Given the description of an element on the screen output the (x, y) to click on. 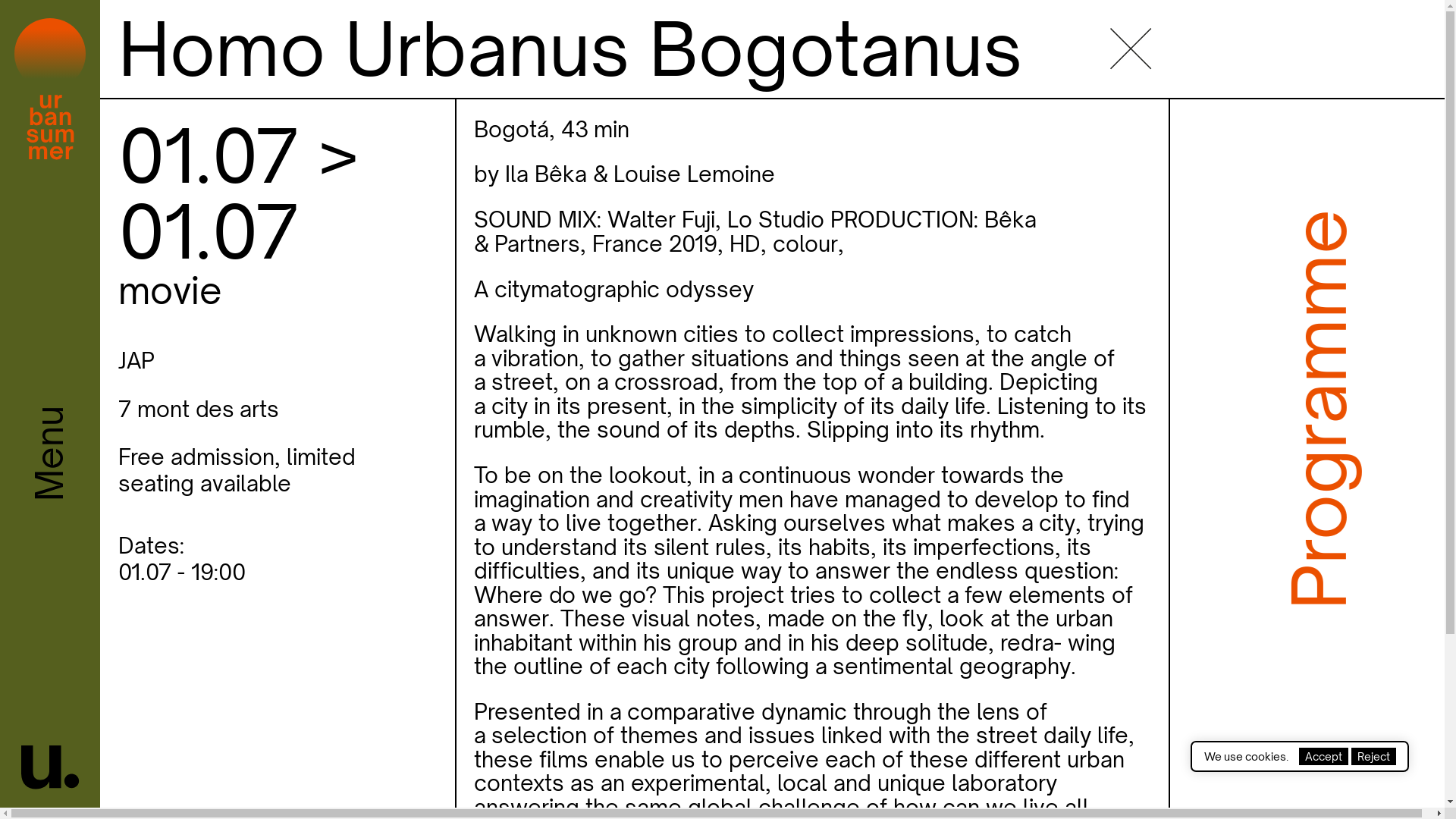
Accept Element type: text (1323, 756)
Menu Element type: text (50, 403)
Reject Element type: text (1373, 756)
